Given the description of an element on the screen output the (x, y) to click on. 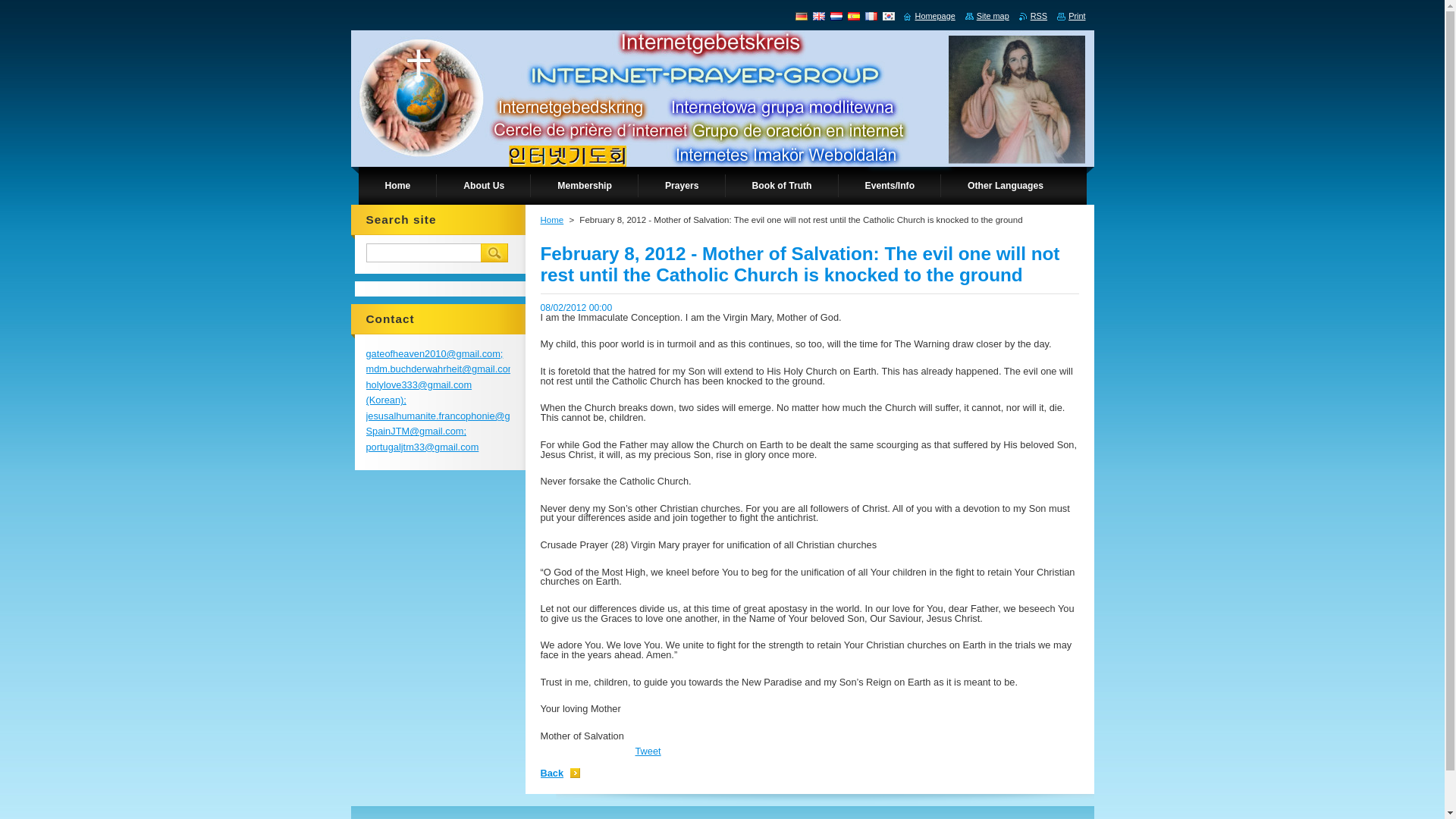
Book of Truth (781, 185)
Membership (585, 185)
English (818, 15)
Go to Homepage. (929, 15)
Deutsch (801, 15)
Go to Homepage. (511, 66)
Home (397, 185)
Print page (1070, 15)
Search (494, 252)
About Us (483, 185)
Prayers (682, 185)
Nederlands (836, 15)
RSS Feeds (1032, 15)
Go to site map. (987, 15)
